Given the description of an element on the screen output the (x, y) to click on. 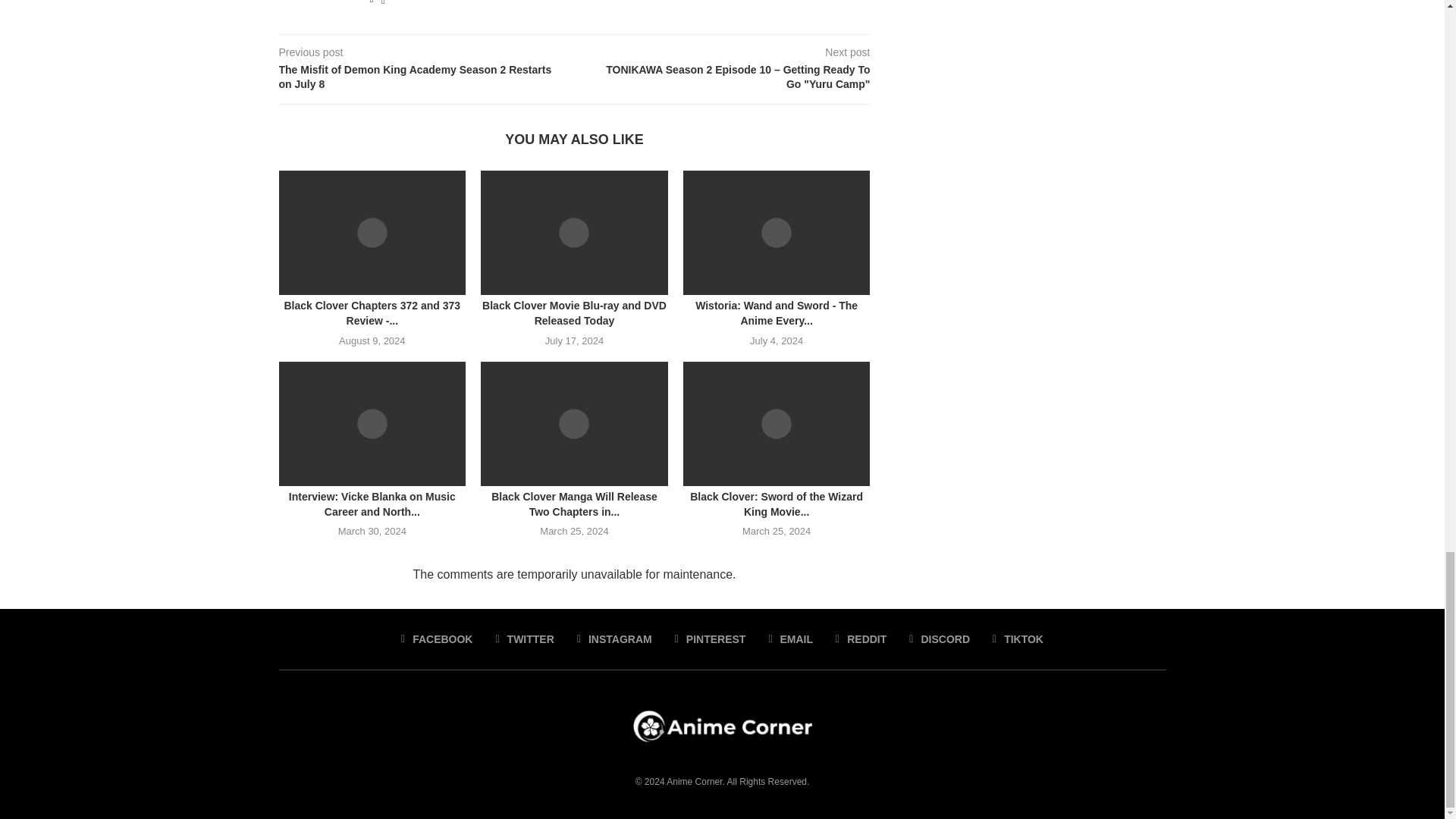
Black Clover Movie Blu-ray and DVD Released Today (574, 232)
